Given the description of an element on the screen output the (x, y) to click on. 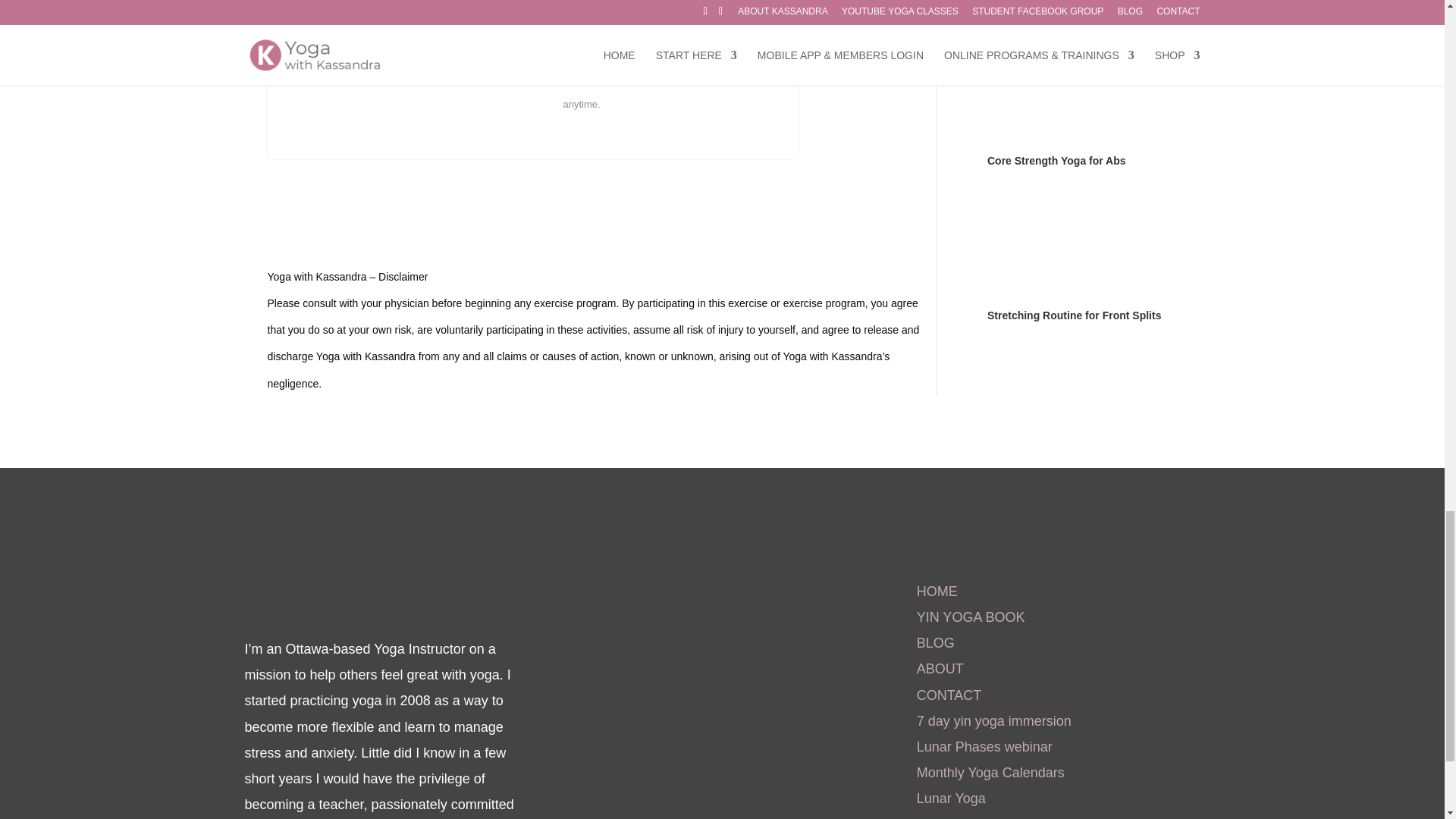
fb:page Facebook Social Plugin (698, 659)
